Given the description of an element on the screen output the (x, y) to click on. 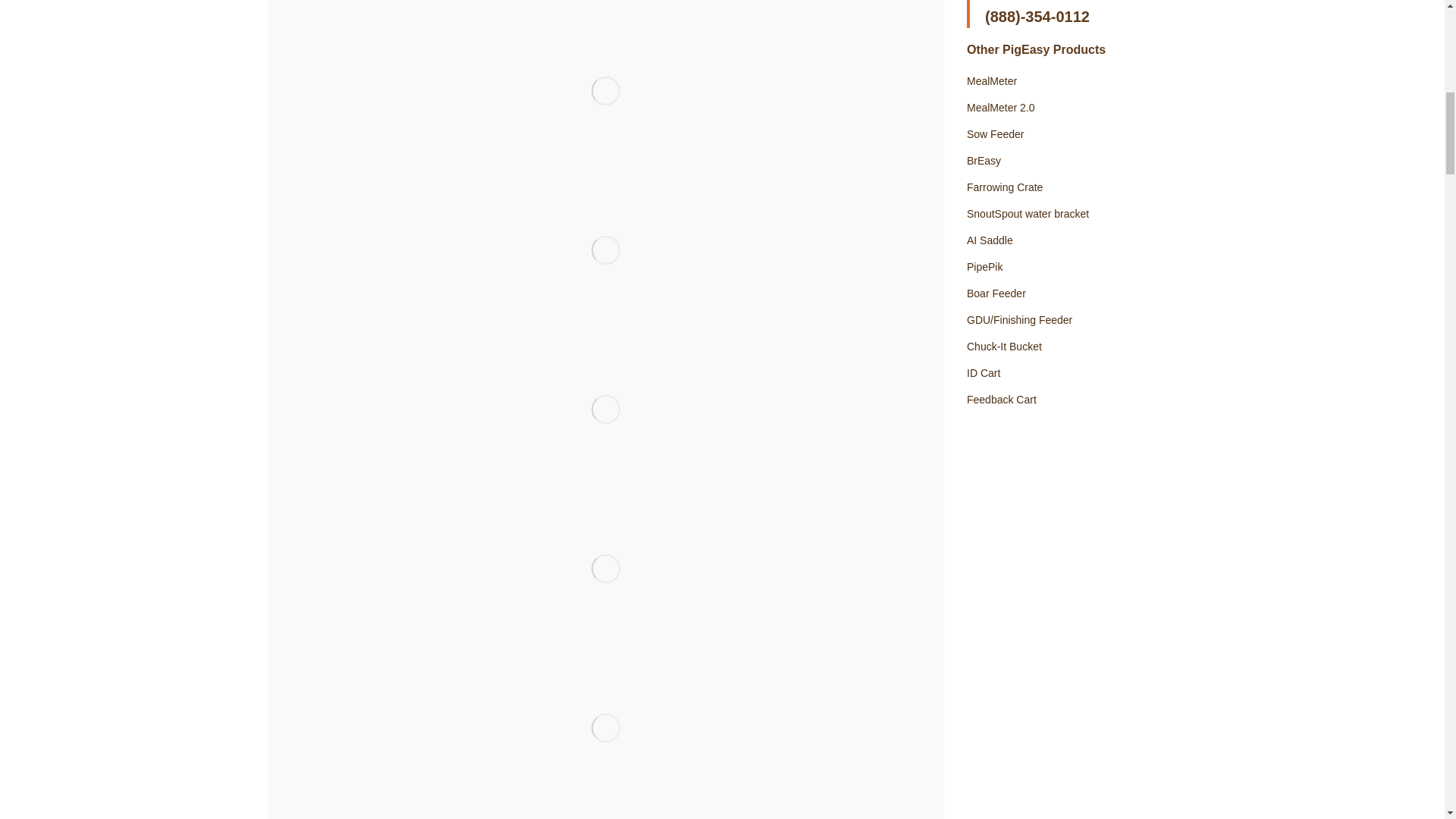
Bottom of PigEasy Sow Feeder (604, 90)
Farrowing Room with PigEasy Sow Feeders (604, 409)
PigEasy Sow Lactation Feeder (604, 5)
